Given the description of an element on the screen output the (x, y) to click on. 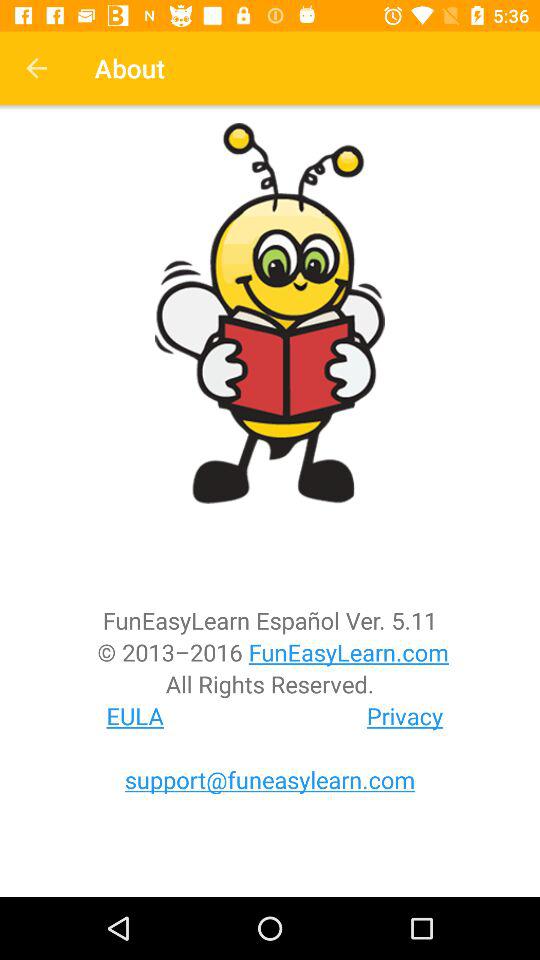
open icon next to the eula (405, 715)
